Given the description of an element on the screen output the (x, y) to click on. 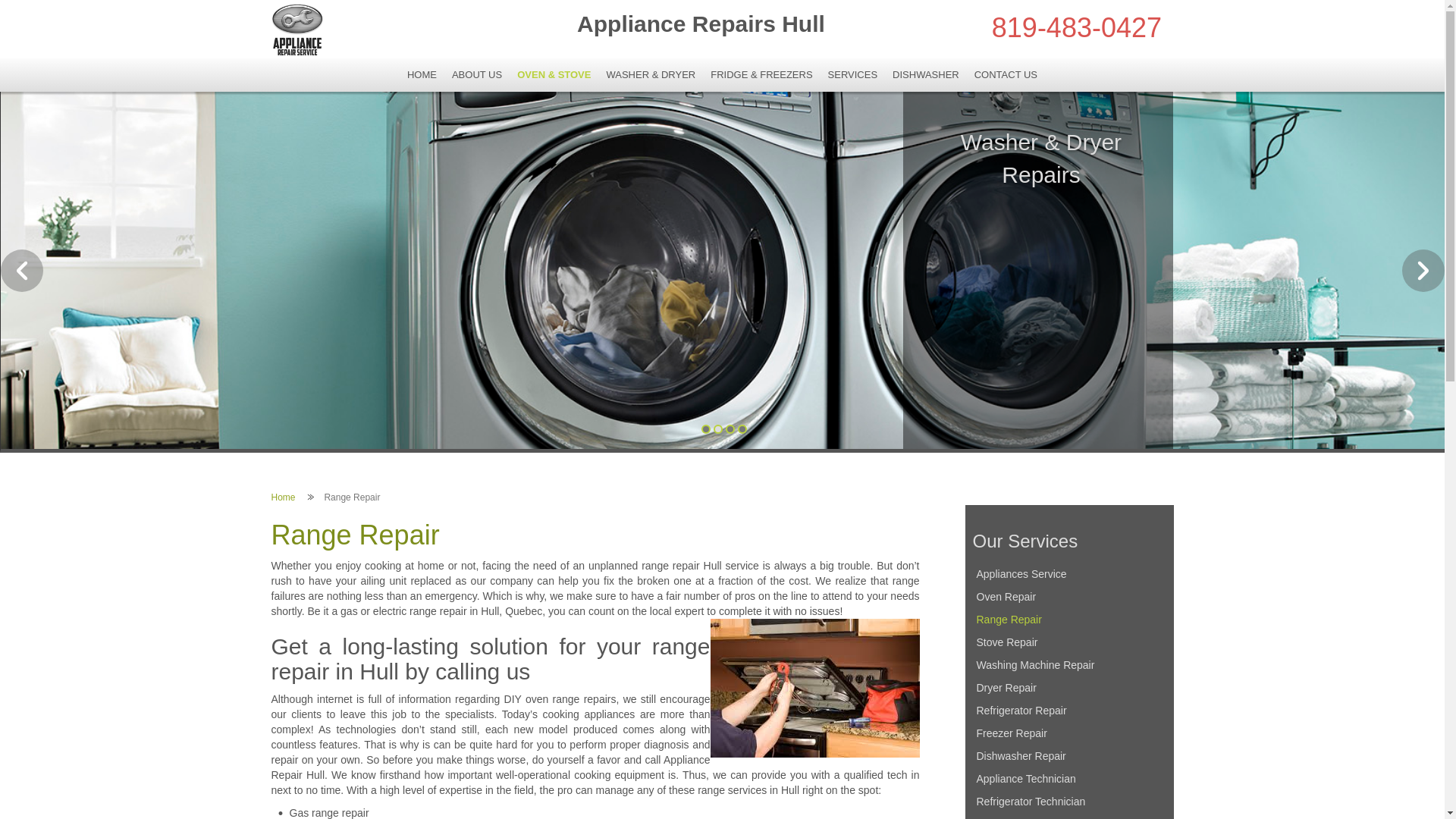
Washing Machine Repair Element type: text (1068, 664)
CONTACT US Element type: text (1005, 74)
ABOUT US Element type: text (476, 74)
SERVICES Element type: text (852, 74)
Refrigerator Repair Element type: text (1068, 710)
OVEN & STOVE Element type: text (553, 74)
FRIDGE & FREEZERS Element type: text (760, 74)
Oven Repair Element type: text (1068, 596)
Range Repair Element type: text (1068, 619)
Dryer Repair Element type: text (1068, 687)
Stove Repair Element type: text (1068, 641)
Freezer Repair Element type: text (1068, 732)
Dishwasher Repair Element type: text (1068, 755)
WASHER & DRYER Element type: text (650, 74)
HOME Element type: text (421, 74)
Appliances Service Element type: text (1068, 573)
Appliance Technician Element type: text (1068, 778)
DISHWASHER Element type: text (925, 74)
Home Element type: text (283, 497)
Refrigerator Technician Element type: text (1068, 801)
